Given the description of an element on the screen output the (x, y) to click on. 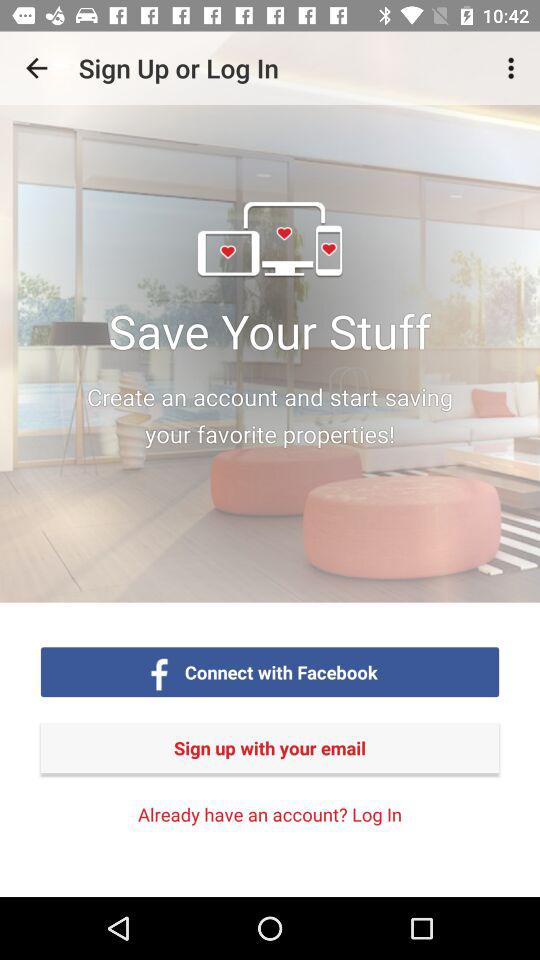
launch the icon above sign up with item (36, 68)
